Given the description of an element on the screen output the (x, y) to click on. 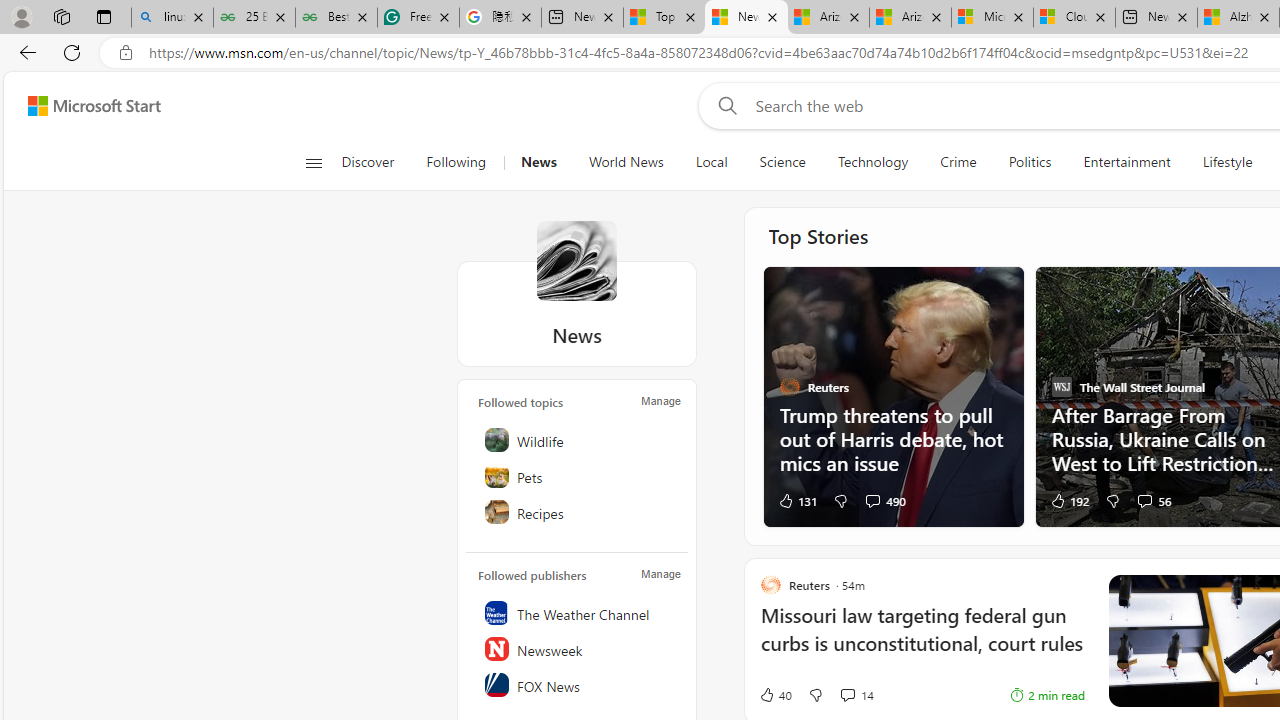
Politics (1030, 162)
View comments 56 Comment (1152, 500)
Manage (660, 574)
View comments 490 Comment (884, 500)
Local (711, 162)
Crime (958, 162)
View comments 14 Comment (855, 695)
